Given the description of an element on the screen output the (x, y) to click on. 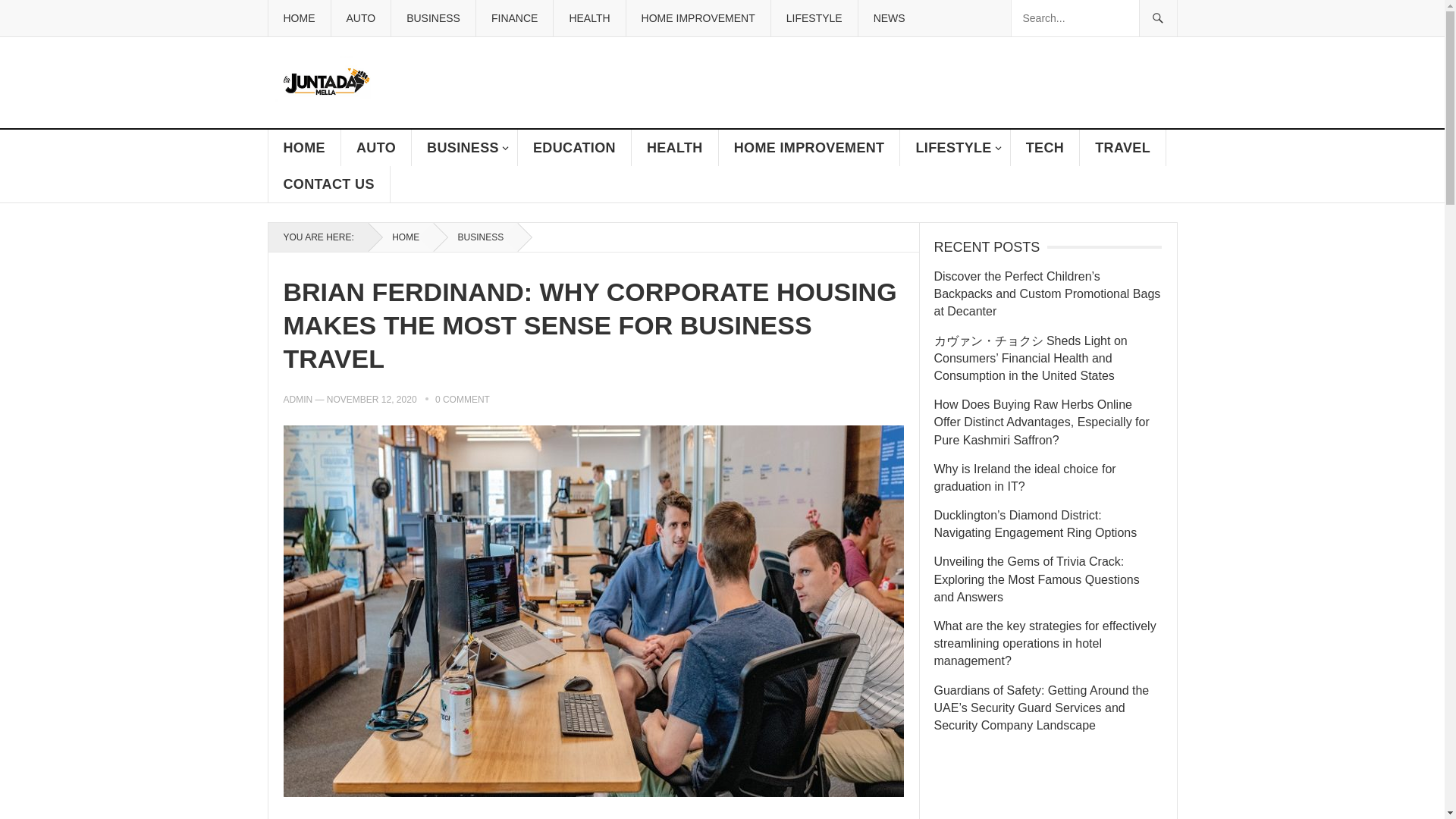
HOME (303, 147)
FINANCE (514, 18)
Posts by admin (298, 398)
TRAVEL (1123, 147)
AUTO (360, 18)
View all posts in Business (475, 236)
LIFESTYLE (954, 147)
AUTO (376, 147)
HOME IMPROVEMENT (810, 147)
BUSINESS (433, 18)
HEALTH (588, 18)
BUSINESS (465, 147)
TECH (1045, 147)
HOME IMPROVEMENT (698, 18)
EDUCATION (574, 147)
